Given the description of an element on the screen output the (x, y) to click on. 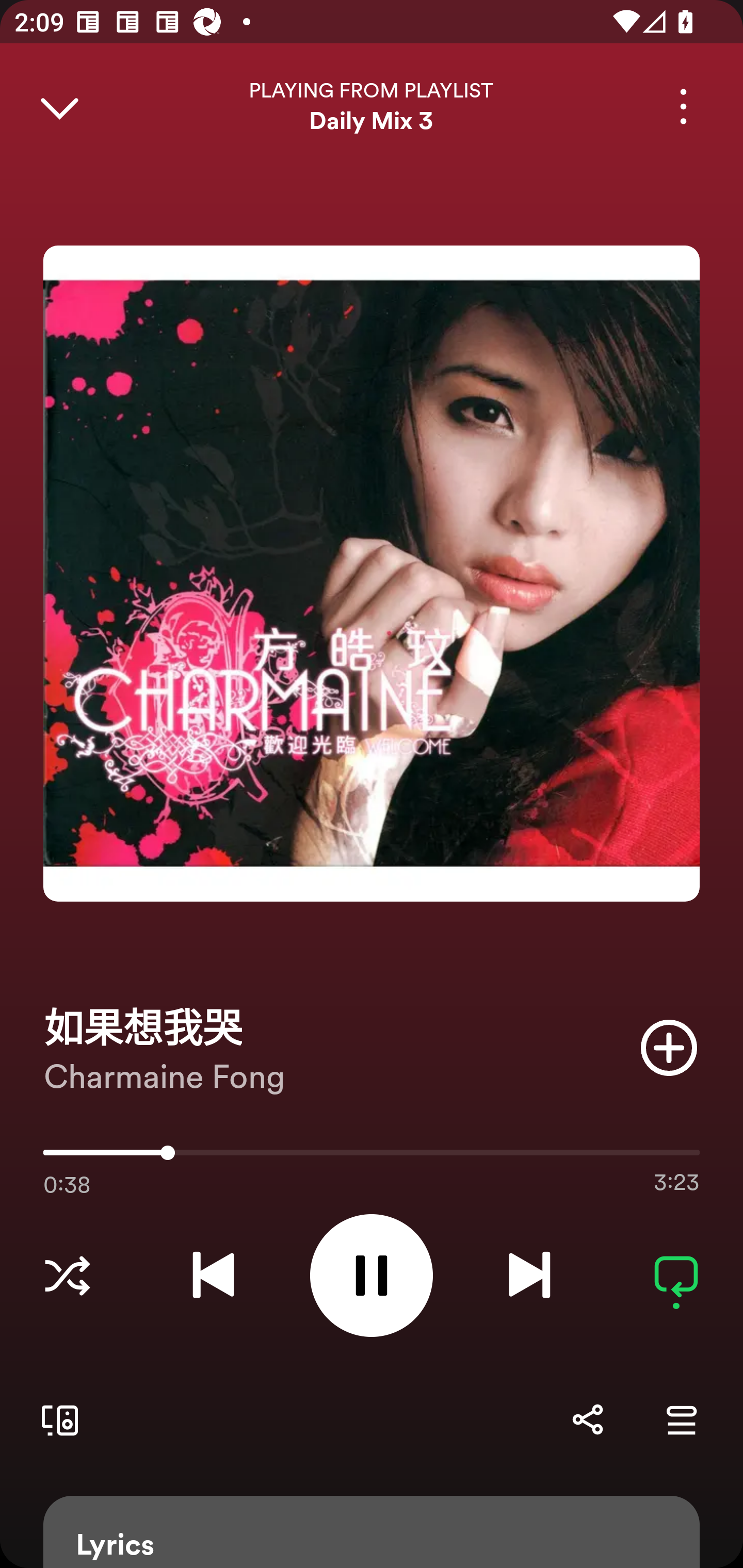
Close (59, 106)
More options for song 如果想我哭 (683, 106)
PLAYING FROM PLAYLIST Daily Mix 3 (371, 106)
Add item (669, 1046)
0:38 3:23 38214.0 Use volume keys to adjust (371, 1157)
Pause (371, 1275)
Previous (212, 1275)
Next (529, 1275)
Choose a Listening Mode (66, 1275)
Repeat (676, 1275)
Share (587, 1419)
Go to Queue (681, 1419)
Connect to a device. Opens the devices menu (55, 1419)
Lyrics (371, 1531)
